Given the description of an element on the screen output the (x, y) to click on. 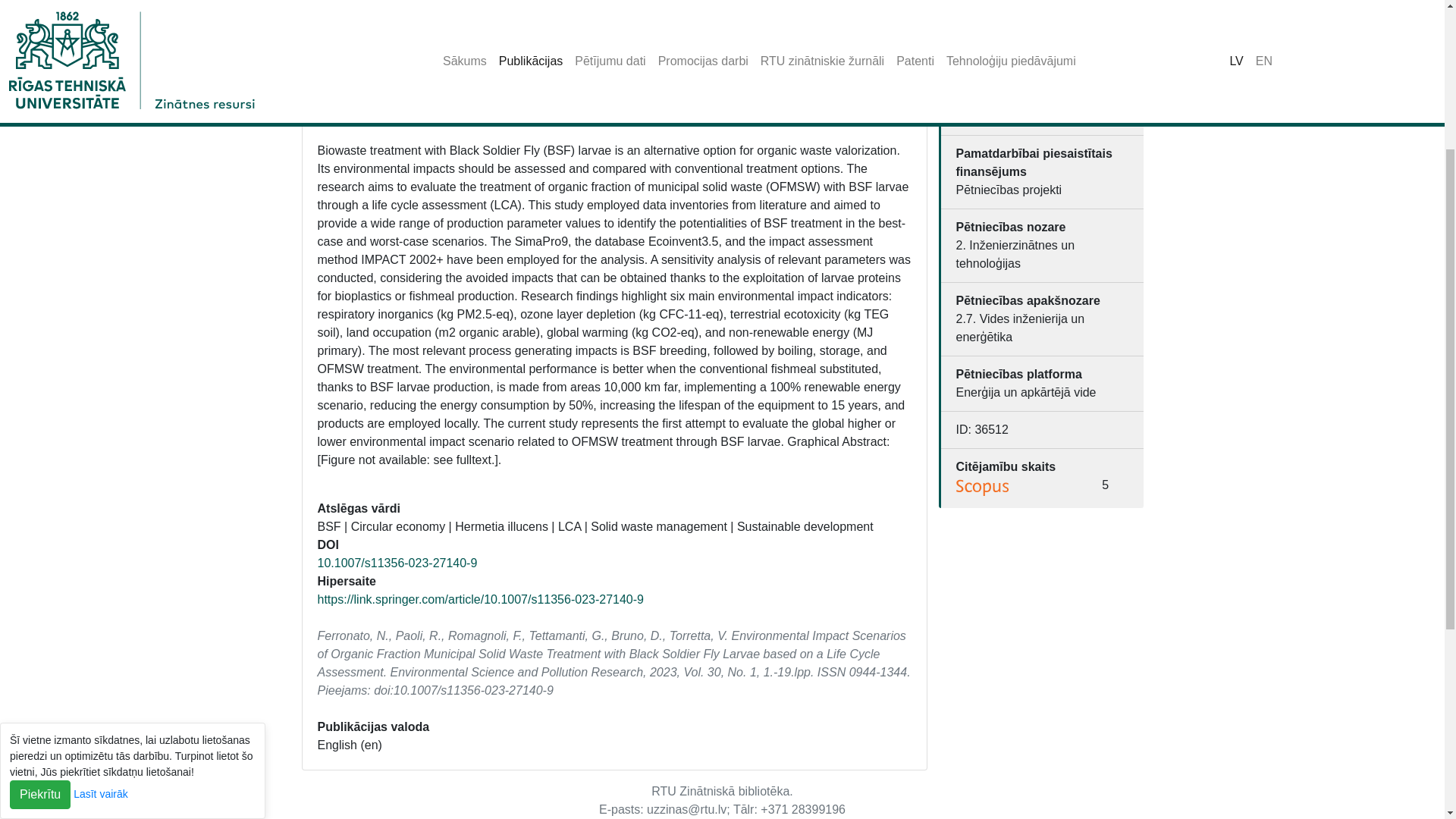
Vincenzo Torretta (598, 104)
Navarro Ferronato (366, 95)
Daniele Bruno (785, 95)
Francesco Romagnoli (567, 95)
Scopus (982, 486)
Gianluca Tettamanti (686, 95)
Riccardo Paoli (461, 95)
